Given the description of an element on the screen output the (x, y) to click on. 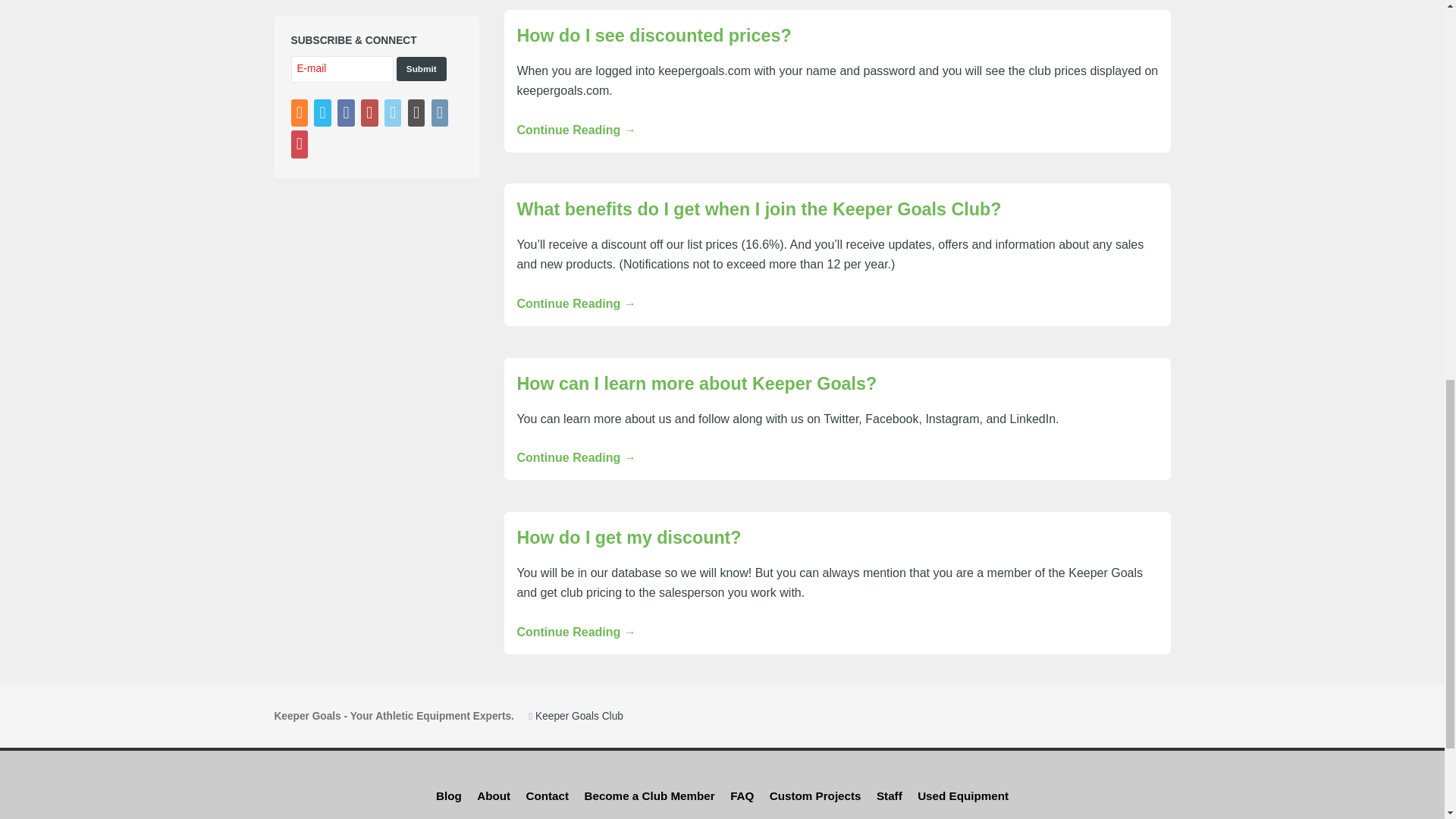
E-mail (342, 69)
Submit (421, 68)
